Given the description of an element on the screen output the (x, y) to click on. 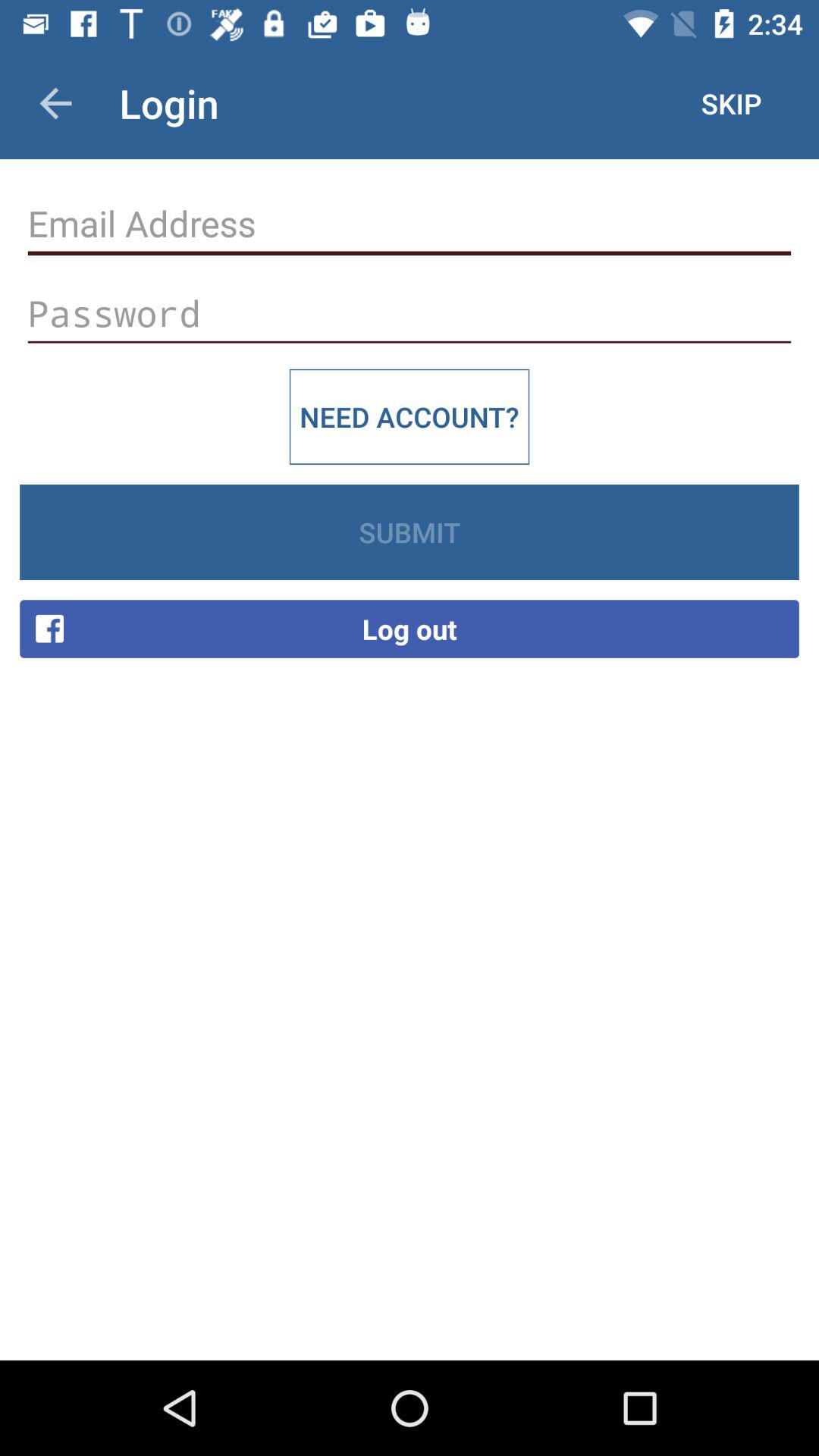
select submit icon (409, 532)
